Given the description of an element on the screen output the (x, y) to click on. 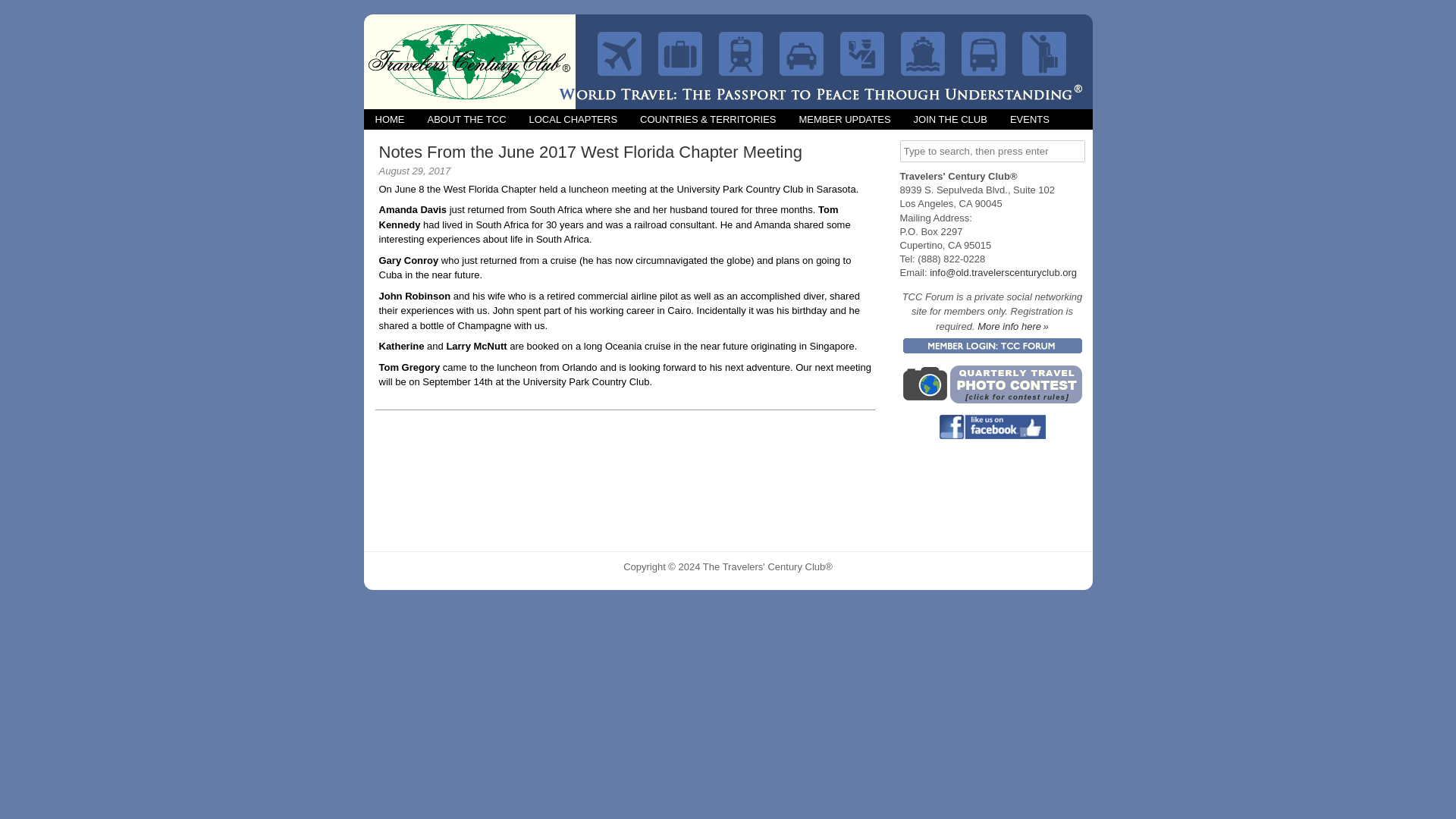
HOME (390, 118)
ABOUT THE TCC (465, 118)
LOCAL CHAPTERS (573, 118)
Type to search, then press enter (991, 151)
